Given the description of an element on the screen output the (x, y) to click on. 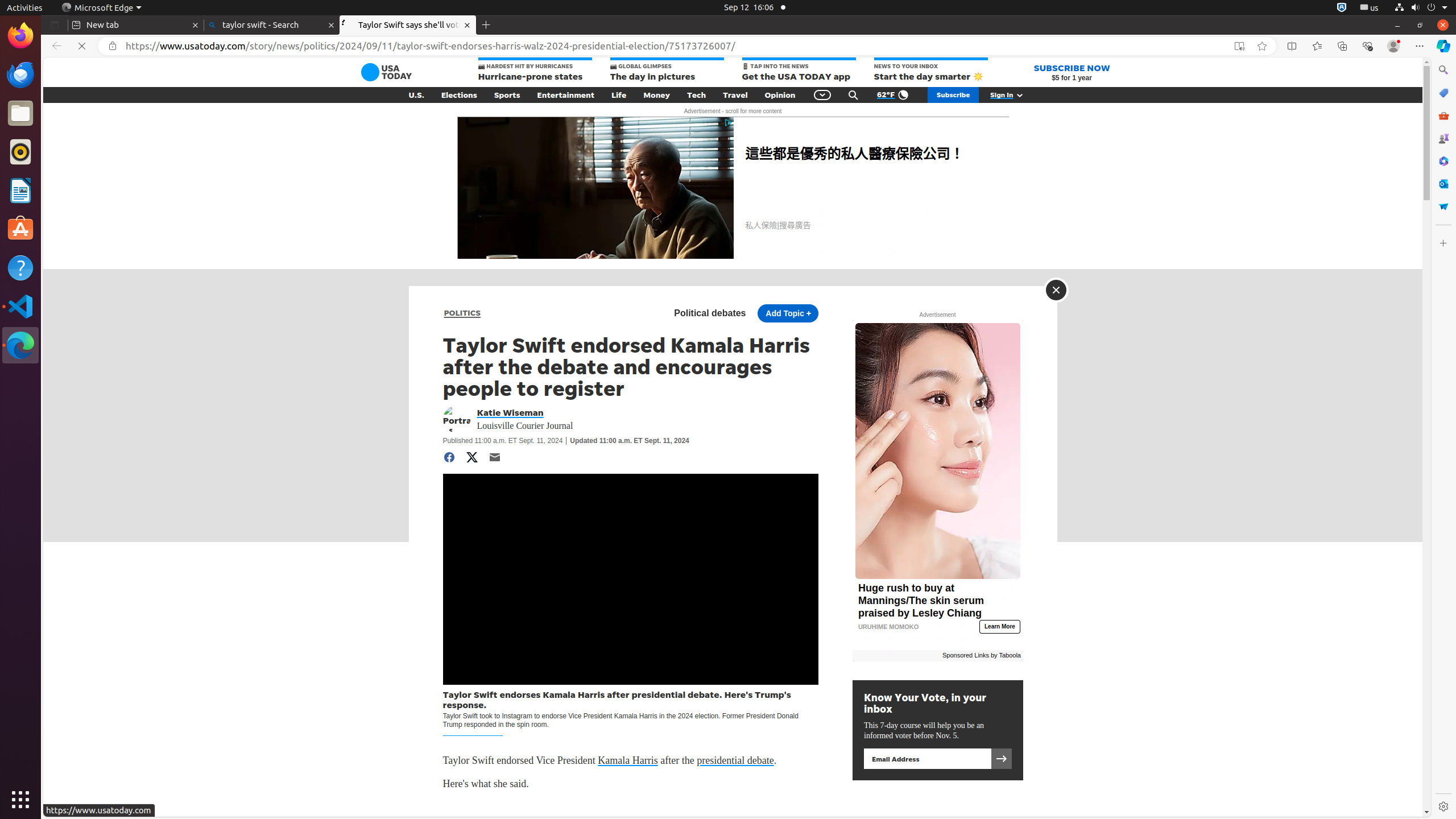
Games Element type: push-button (1443, 137)
System Element type: menu (1420, 7)
Firefox Web Browser Element type: push-button (20, 35)
Collections Element type: push-button (1341, 45)
Favorites Element type: push-button (1316, 45)
